Given the description of an element on the screen output the (x, y) to click on. 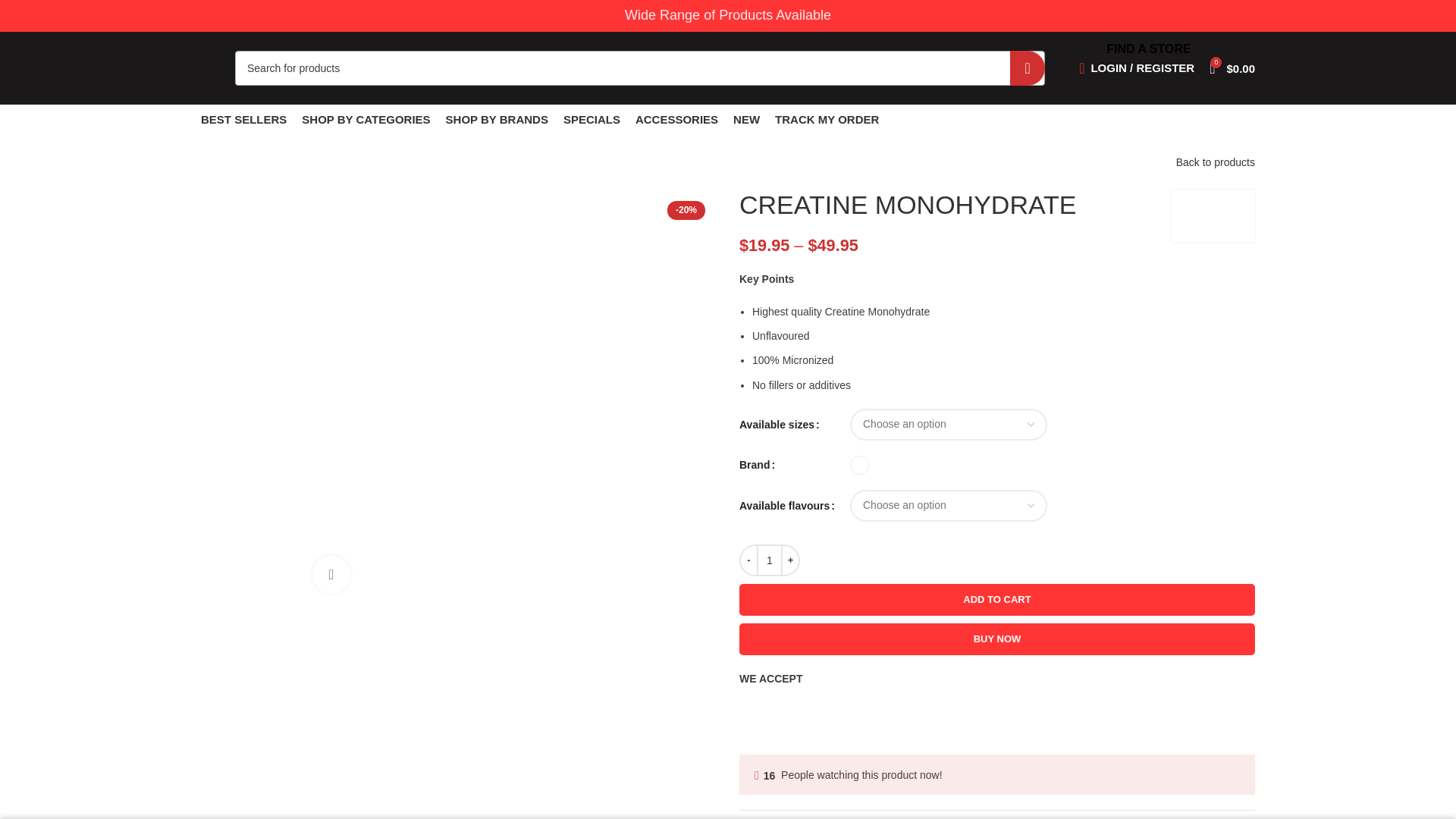
TRACK MY ORDER (826, 119)
Wide Range of Products Available (727, 14)
Shopping cart (1232, 68)
My account (1136, 68)
BEST SELLERS (243, 119)
SHOP BY CATEGORIES (365, 119)
FIND A STORE (1148, 48)
SHOP BY BRANDS (496, 119)
ACCESSORIES (675, 119)
SEARCH (1027, 67)
Search for products (639, 67)
Back to products (1215, 162)
BPM Labs (1213, 215)
SPECIALS (591, 119)
